Given the description of an element on the screen output the (x, y) to click on. 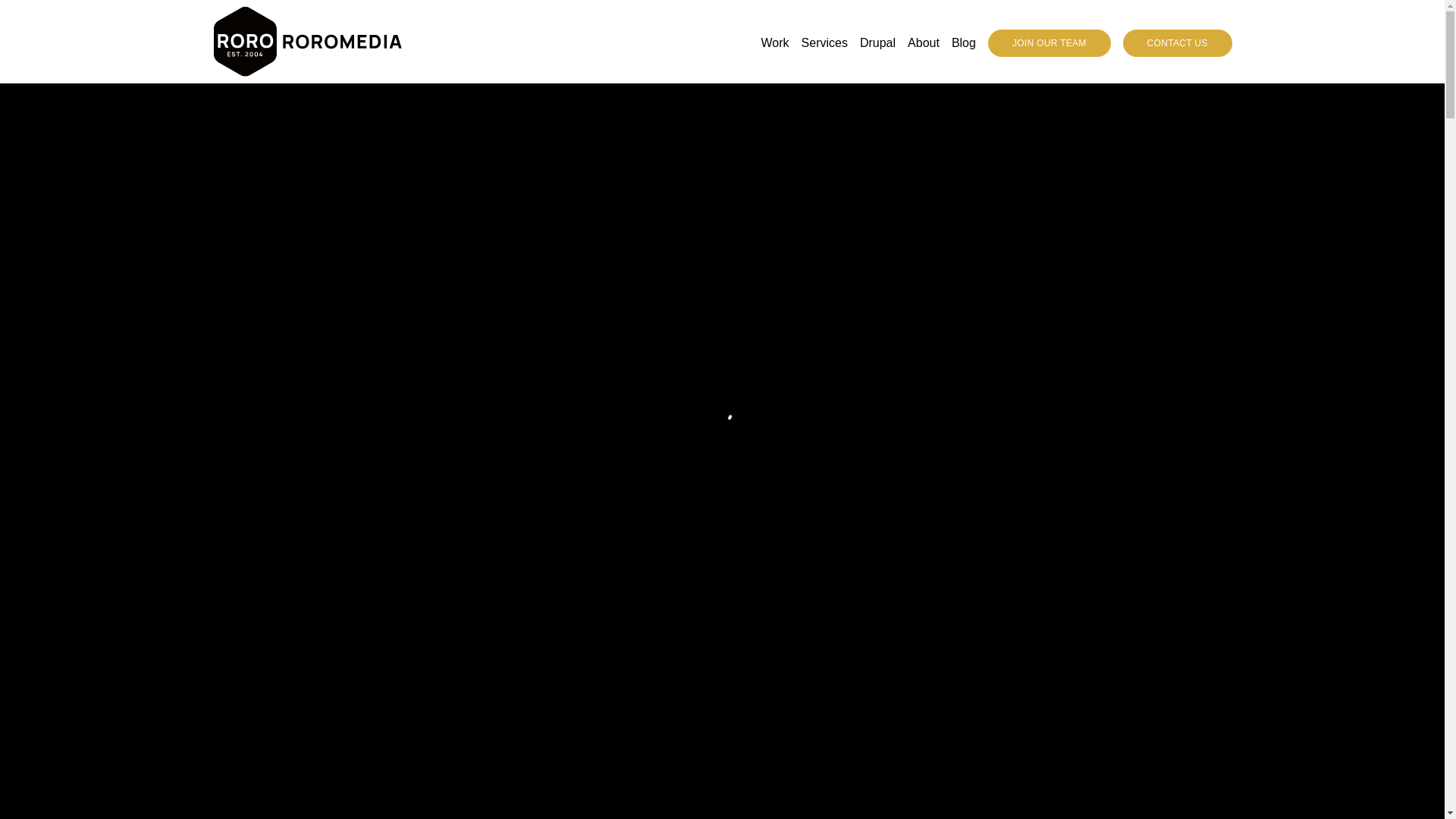
Drupal (877, 43)
About (923, 43)
JOIN OUR TEAM (1049, 42)
Services (824, 43)
Work (775, 43)
Blog (963, 43)
CONTACT US (1176, 42)
